Given the description of an element on the screen output the (x, y) to click on. 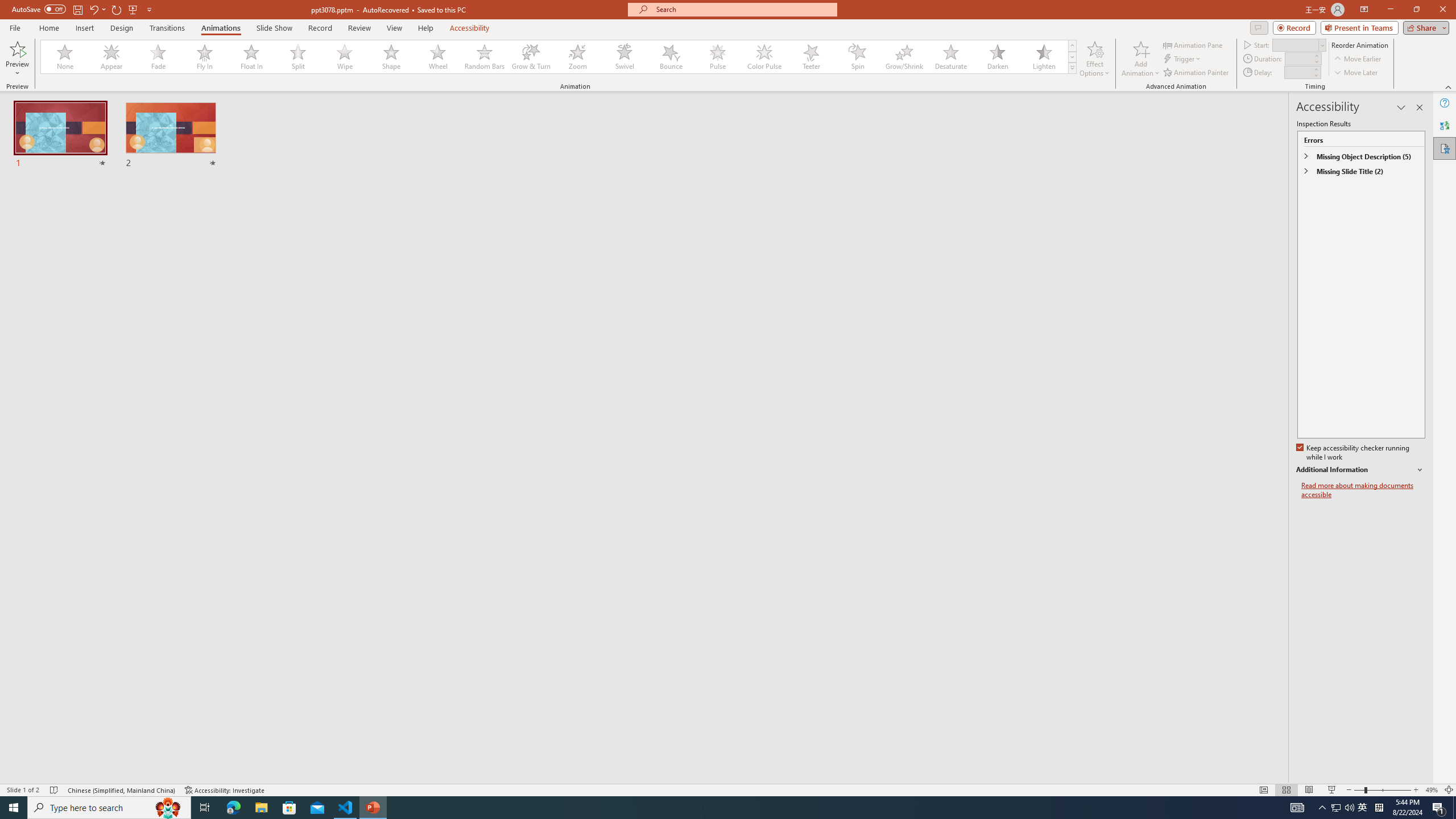
Read more about making documents accessible (1363, 489)
Animation Pane (1193, 44)
Spin (857, 56)
Swivel (624, 56)
